Given the description of an element on the screen output the (x, y) to click on. 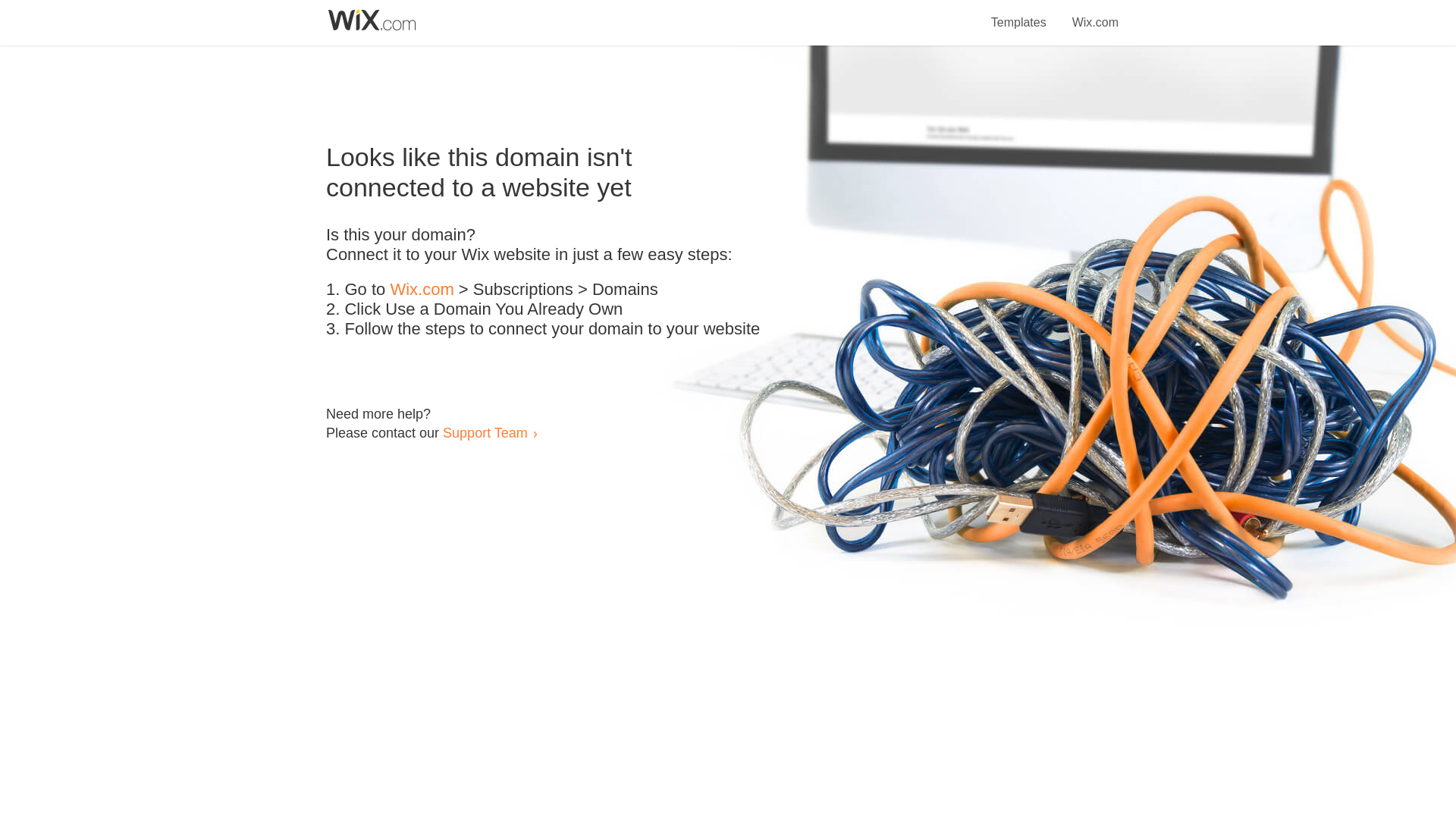
Support Team (484, 432)
Wix.com (1095, 14)
Wix.com (421, 289)
Templates (1018, 14)
